Given the description of an element on the screen output the (x, y) to click on. 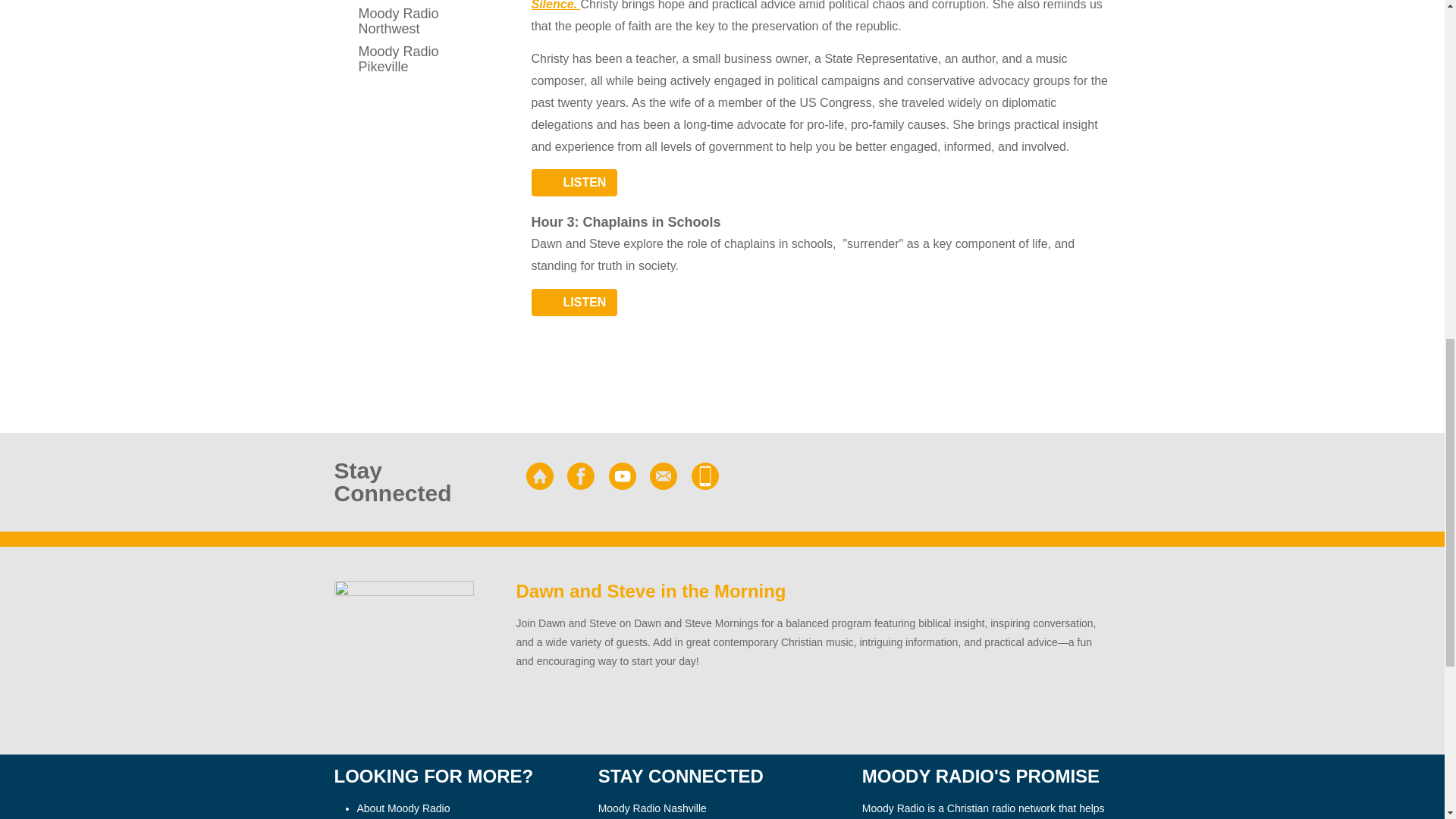
WFCM Nashville (539, 475)
Moody Radio Pikeville (403, 58)
Moody Radio Nashville (403, 1)
Moody Radio Northwest (403, 21)
Dawn and Steve on Facebook (580, 475)
